Given the description of an element on the screen output the (x, y) to click on. 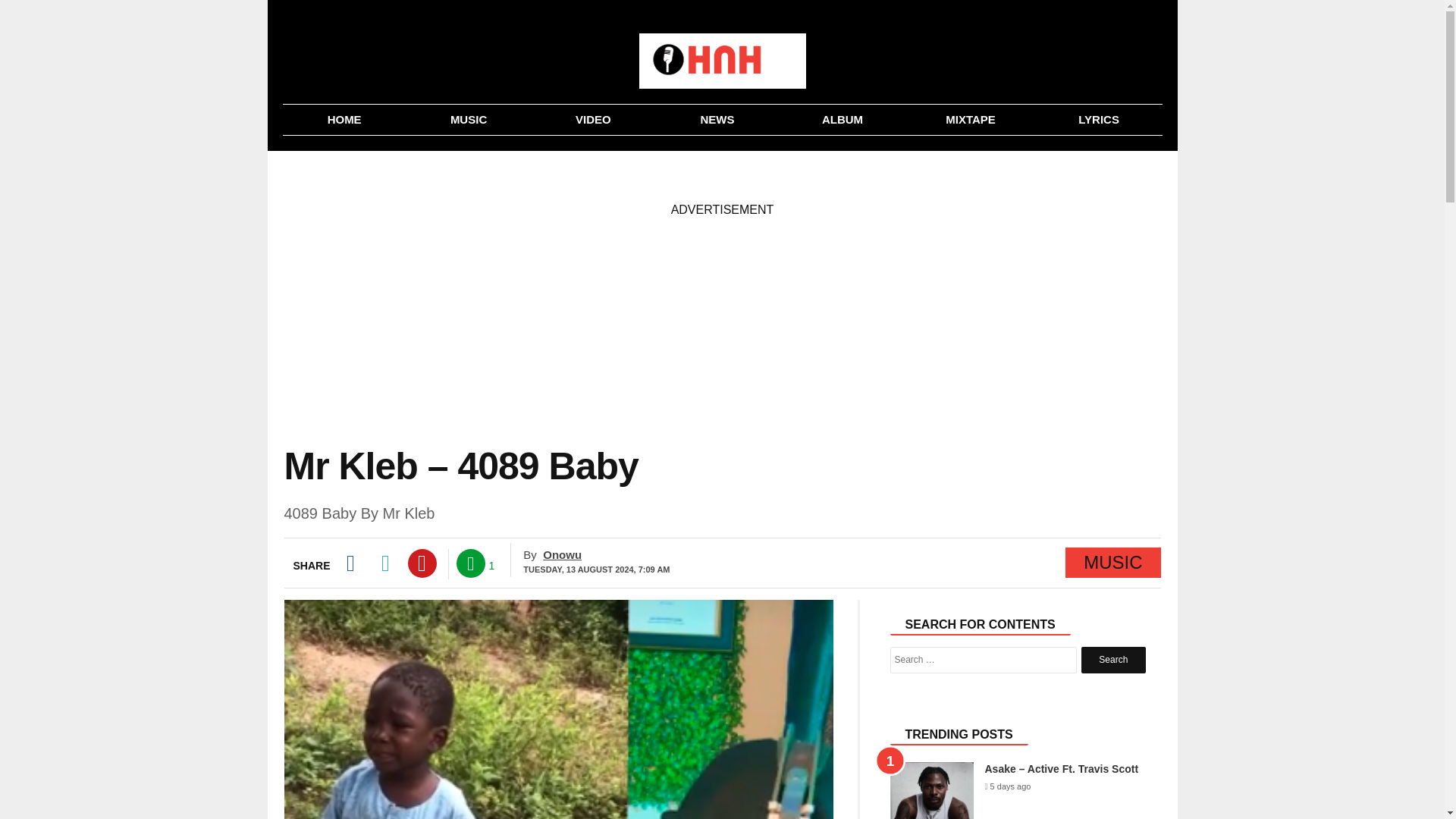
pinterest (421, 563)
Home (344, 119)
MUSIC (468, 119)
Facebook (349, 563)
Video (593, 119)
News (716, 119)
Posts by Onowu (561, 554)
Album (841, 119)
Twitter (385, 563)
Comments (470, 563)
